Given the description of an element on the screen output the (x, y) to click on. 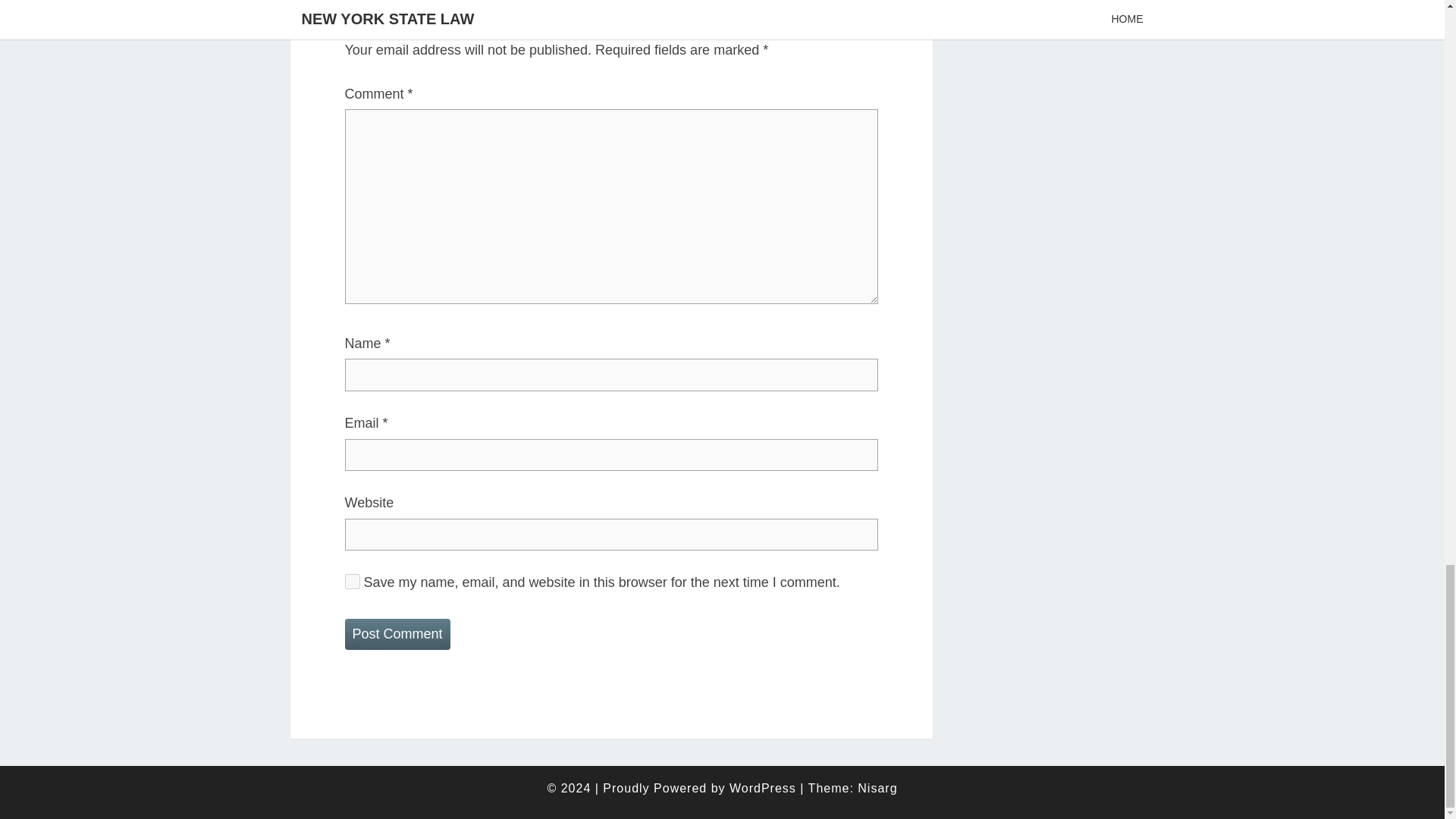
yes (351, 581)
Nisarg (876, 788)
Post Comment (396, 634)
WordPress (762, 788)
Post Comment (396, 634)
